Given the description of an element on the screen output the (x, y) to click on. 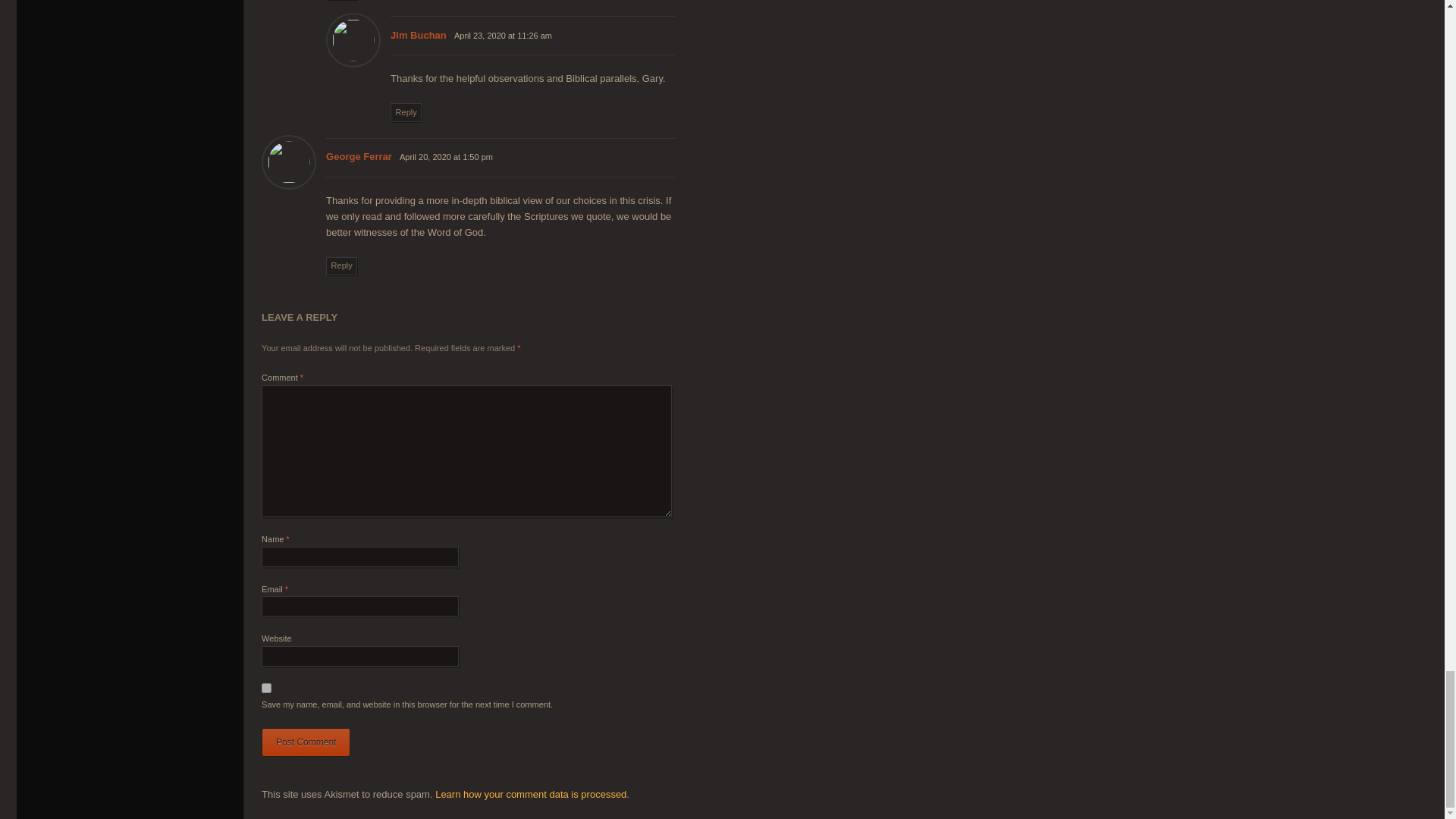
Jim Buchan (418, 34)
yes (266, 687)
Post Comment (306, 742)
Learn how your comment data is processed (530, 794)
April 20, 2020 at 1:50 pm (445, 156)
Post Comment (306, 742)
Reply (341, 265)
George Ferrar (358, 156)
April 23, 2020 at 11:26 am (502, 35)
Reply (406, 112)
